Given the description of an element on the screen output the (x, y) to click on. 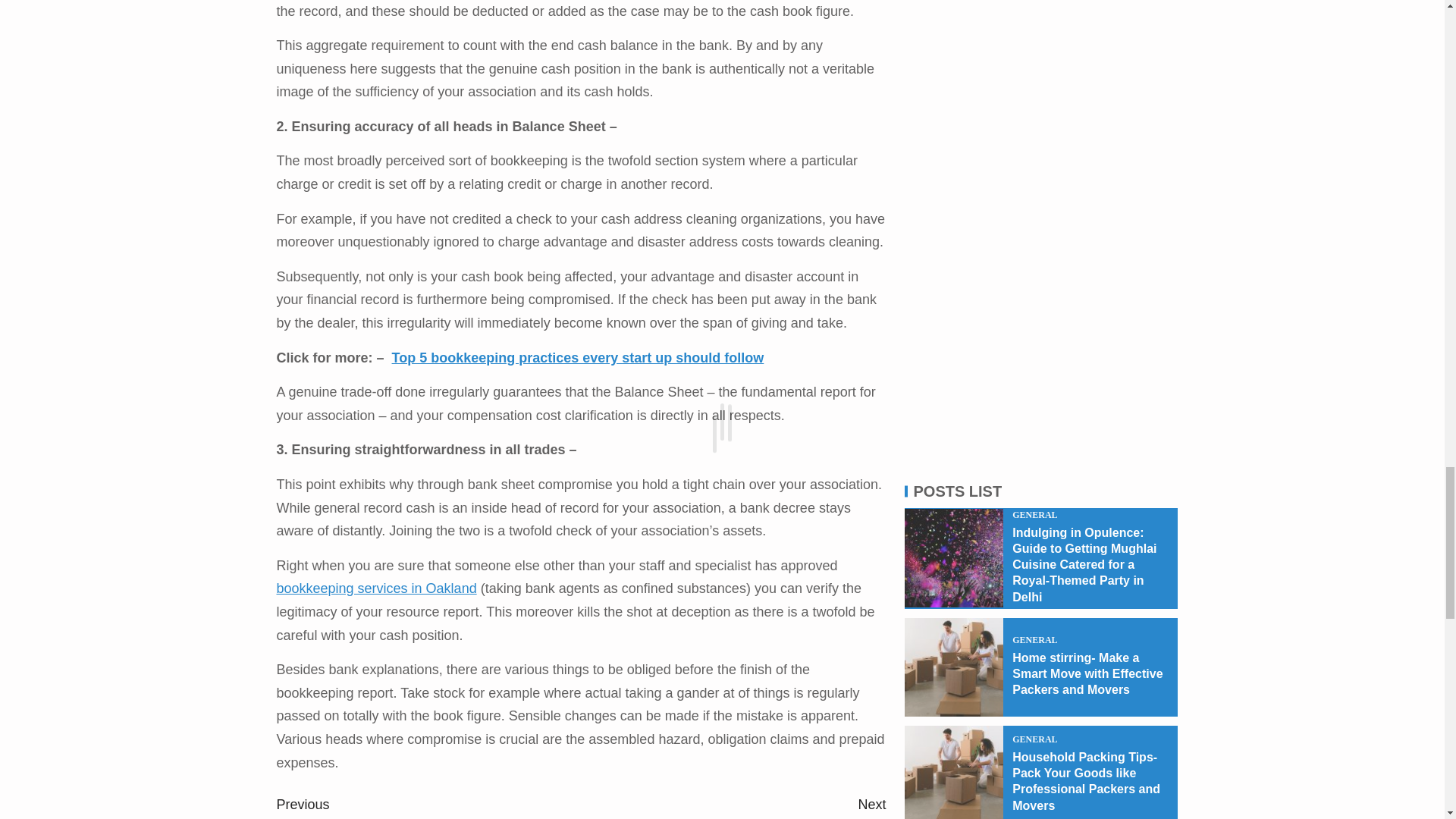
Top 5 bookkeeping practices every start up should follow (577, 357)
bookkeeping services in Oakland (732, 806)
